Given the description of an element on the screen output the (x, y) to click on. 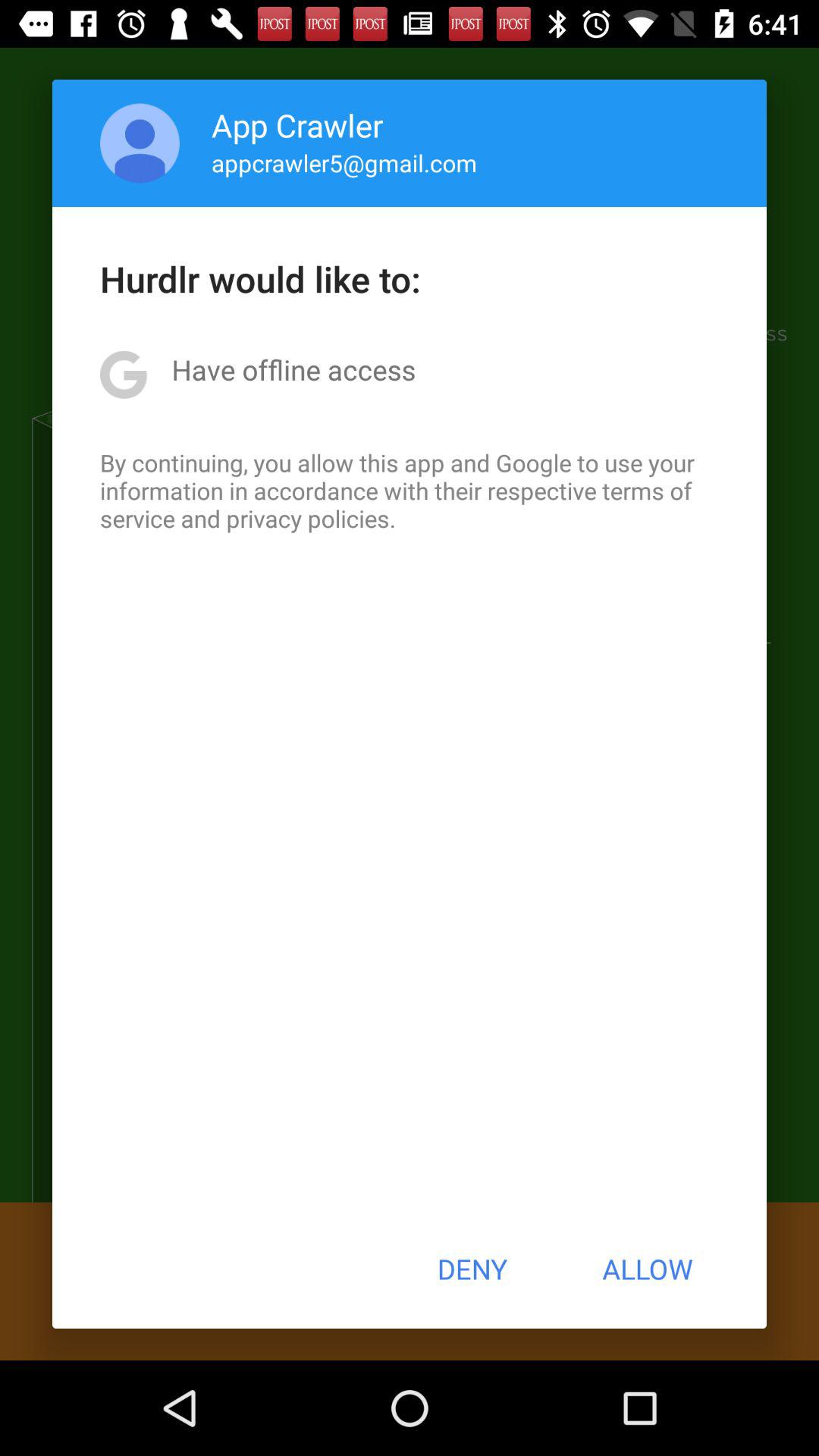
flip to have offline access (293, 369)
